Given the description of an element on the screen output the (x, y) to click on. 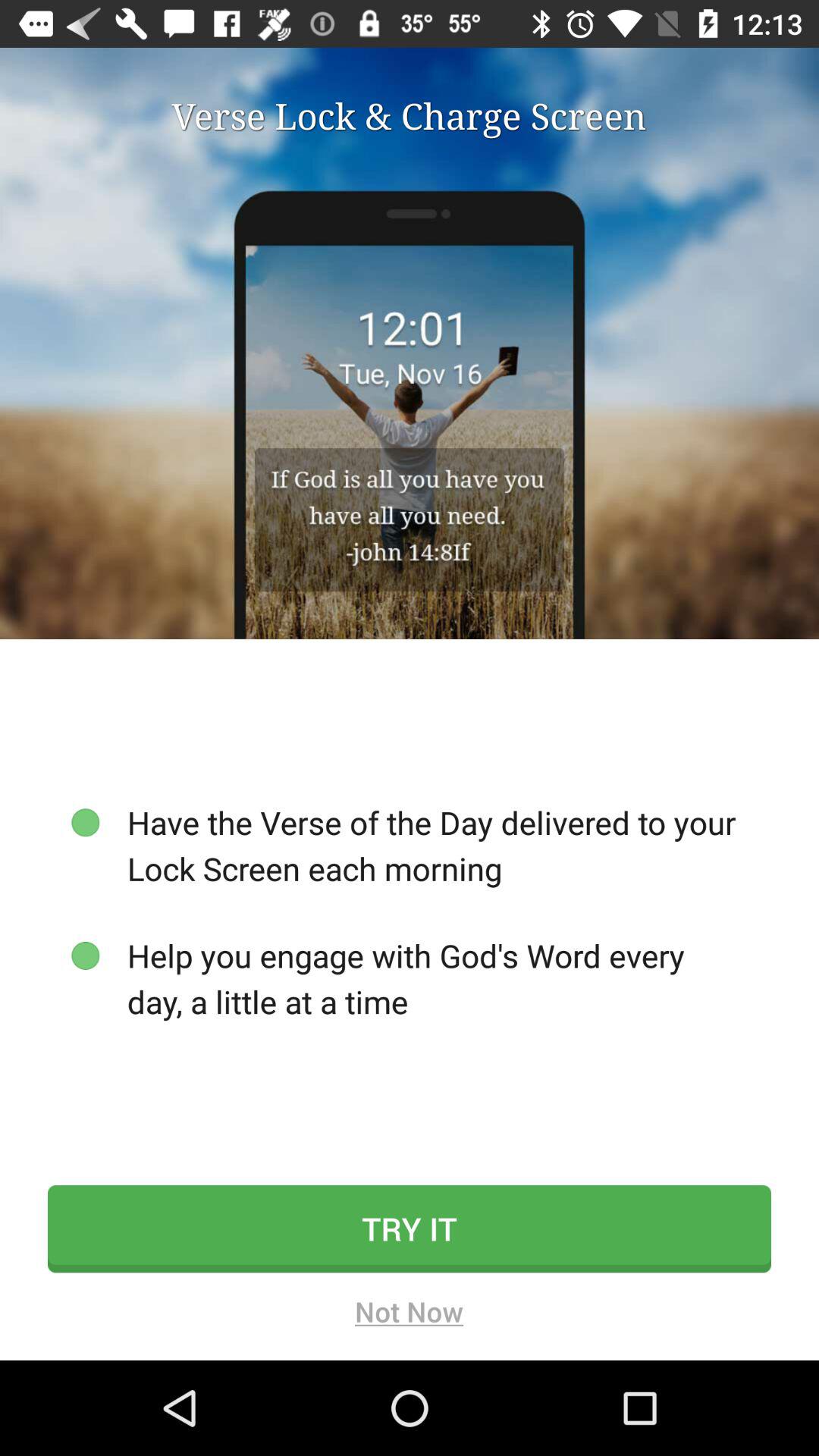
scroll to the not now (408, 1316)
